Given the description of an element on the screen output the (x, y) to click on. 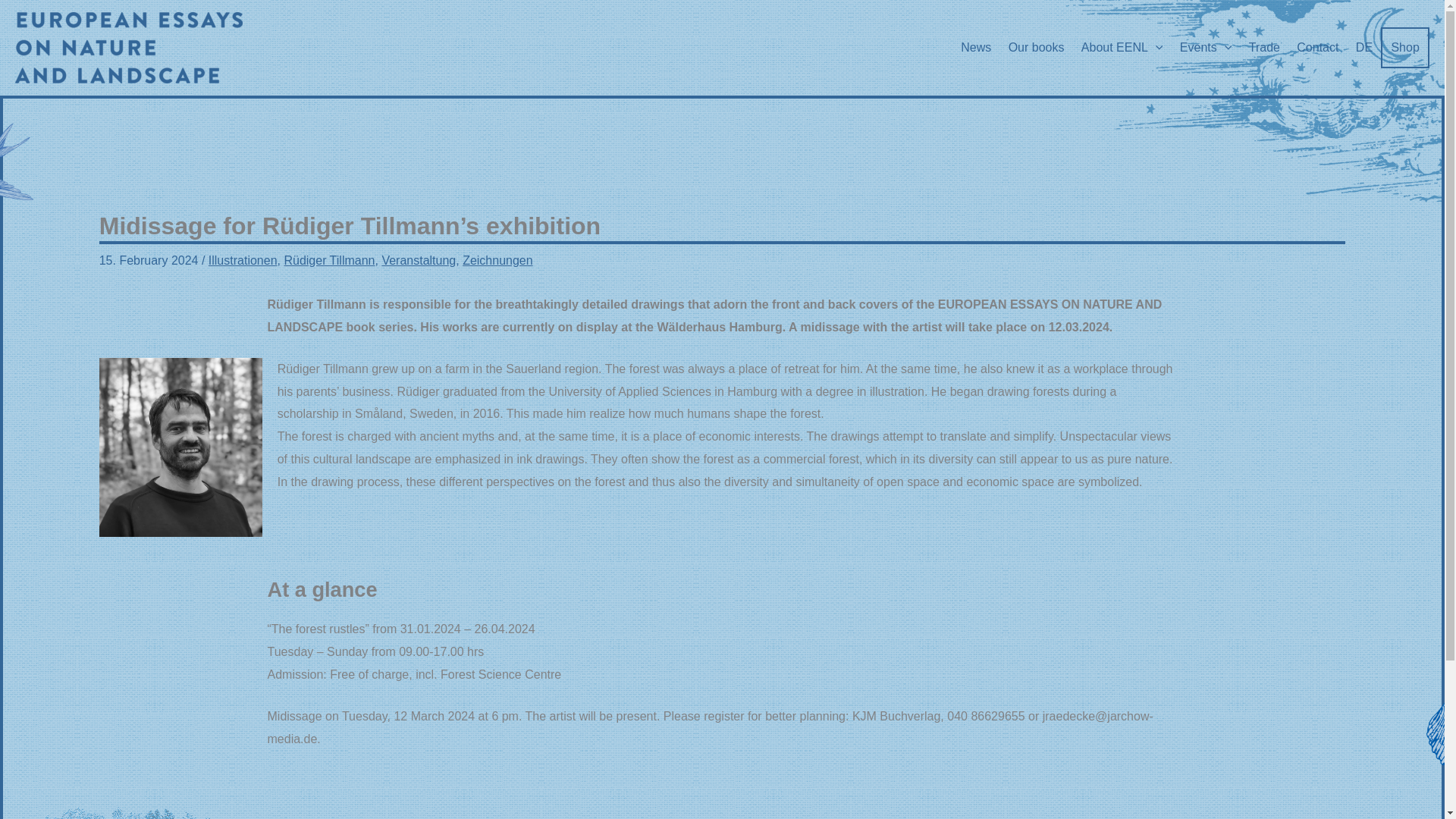
Our books (1034, 47)
Shop (1404, 47)
Contact (1318, 47)
Events (1206, 47)
About EENL (1122, 47)
